Given the description of an element on the screen output the (x, y) to click on. 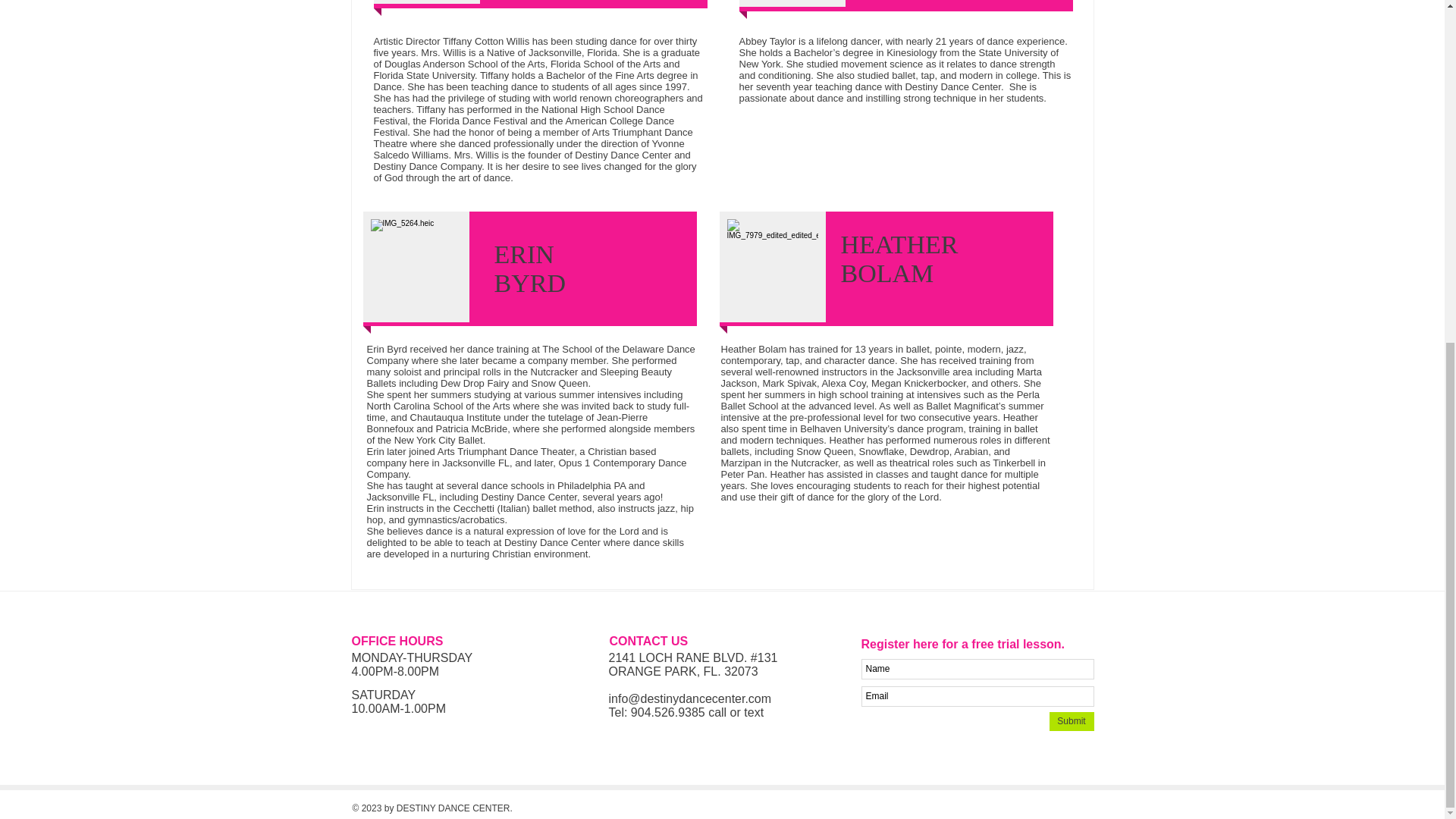
photo-5.JPG (415, 266)
c6.jpg 2015-1-13-15:5:54 (425, 2)
Submit (1071, 721)
